Given the description of an element on the screen output the (x, y) to click on. 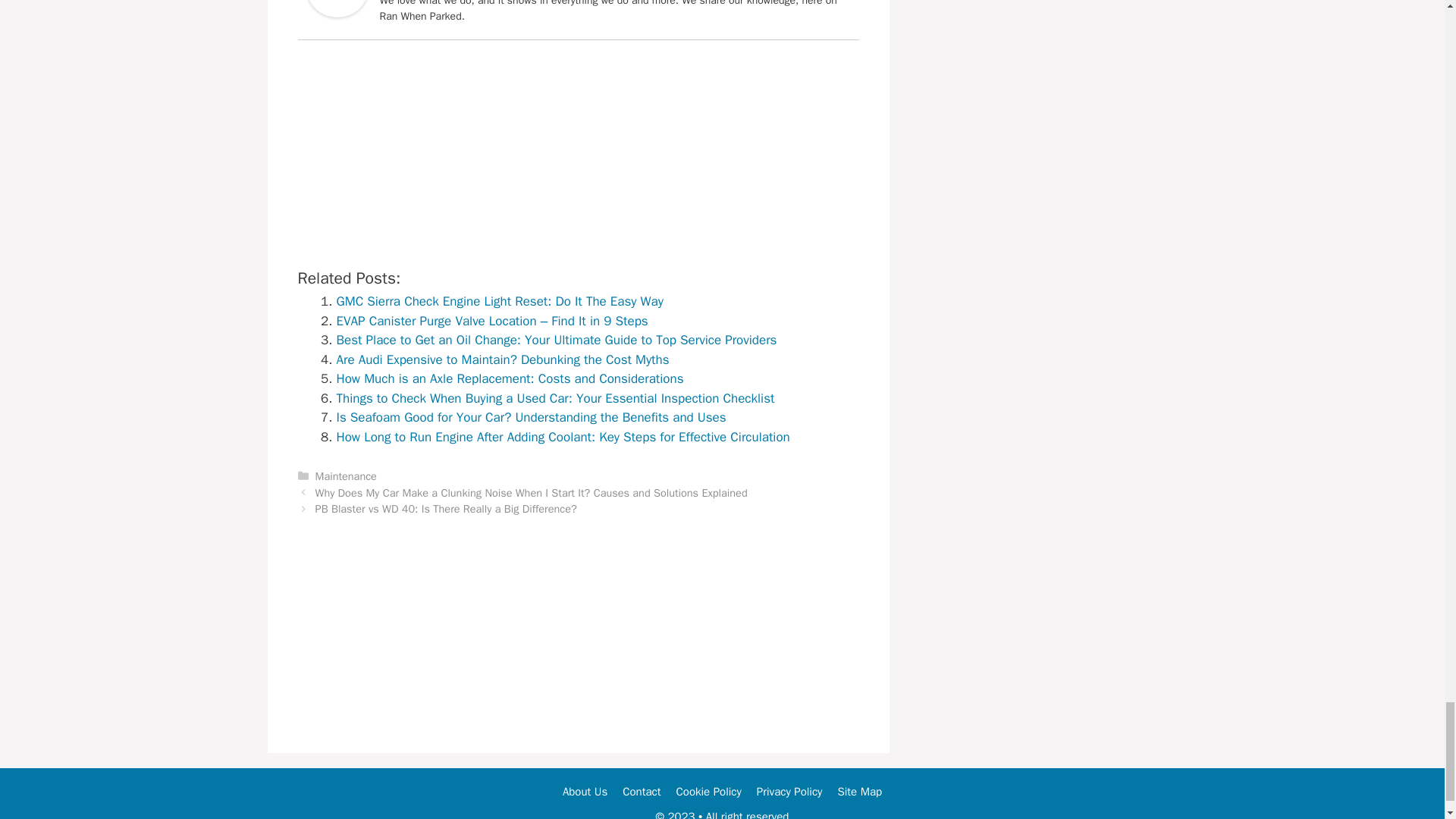
How Much is an Axle Replacement: Costs and Considerations (510, 378)
GMC Sierra Check Engine Light Reset: Do It The Easy Way (499, 301)
Ran When Parked (335, 12)
Are Audi Expensive to Maintain? Debunking the Cost Myths (502, 359)
